Given the description of an element on the screen output the (x, y) to click on. 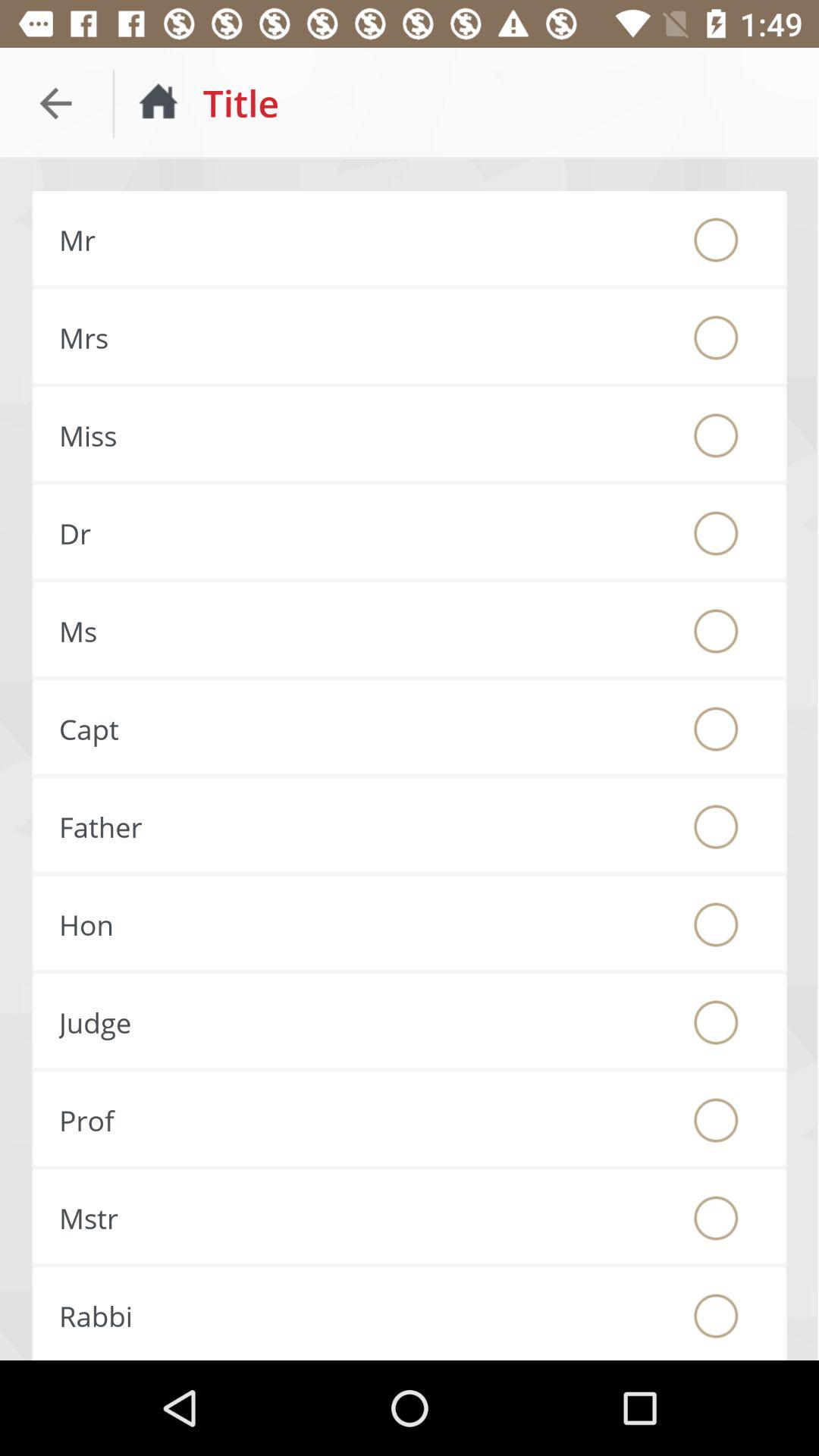
hon title (715, 924)
